Given the description of an element on the screen output the (x, y) to click on. 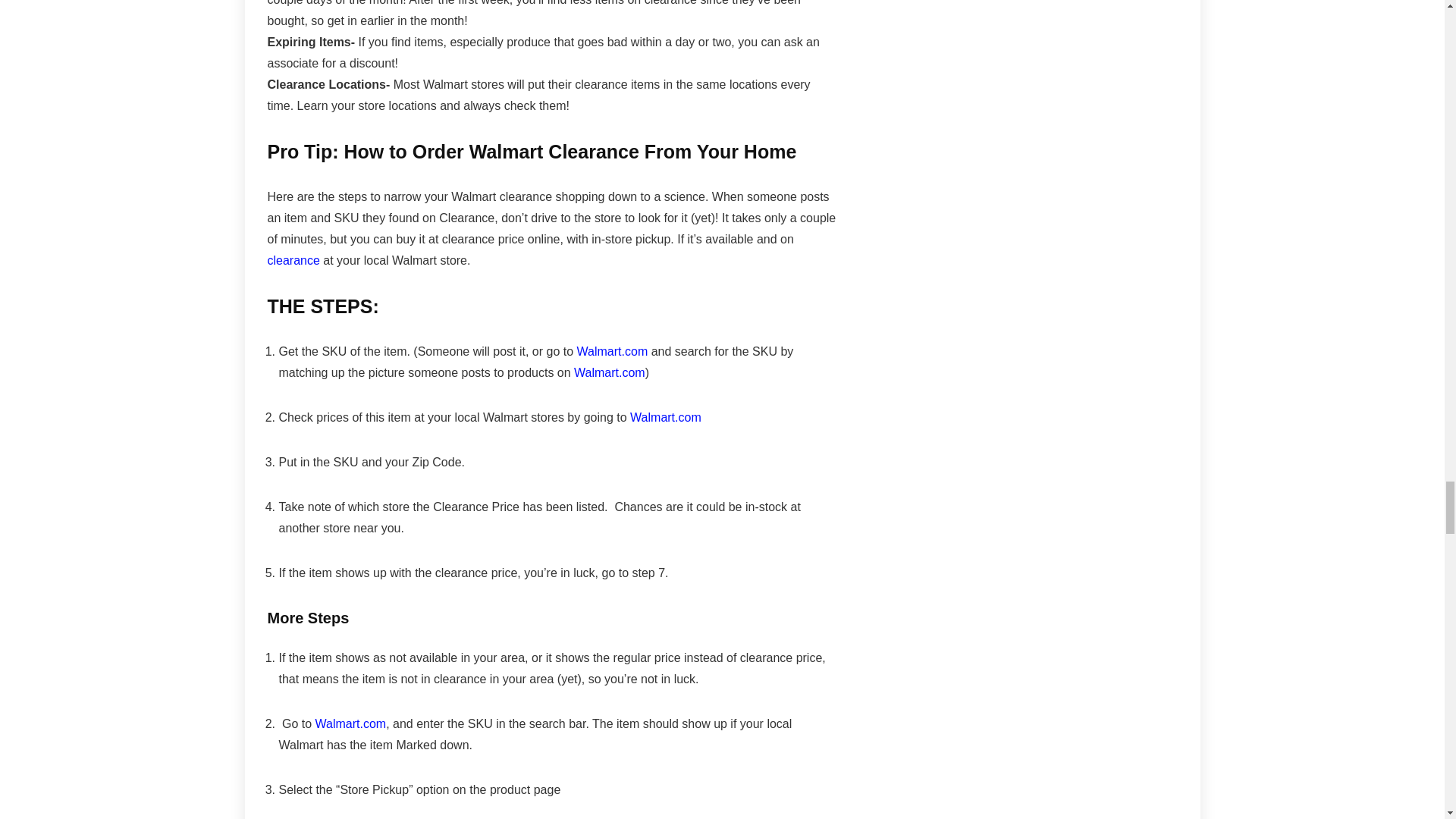
clearance (292, 259)
